Given the description of an element on the screen output the (x, y) to click on. 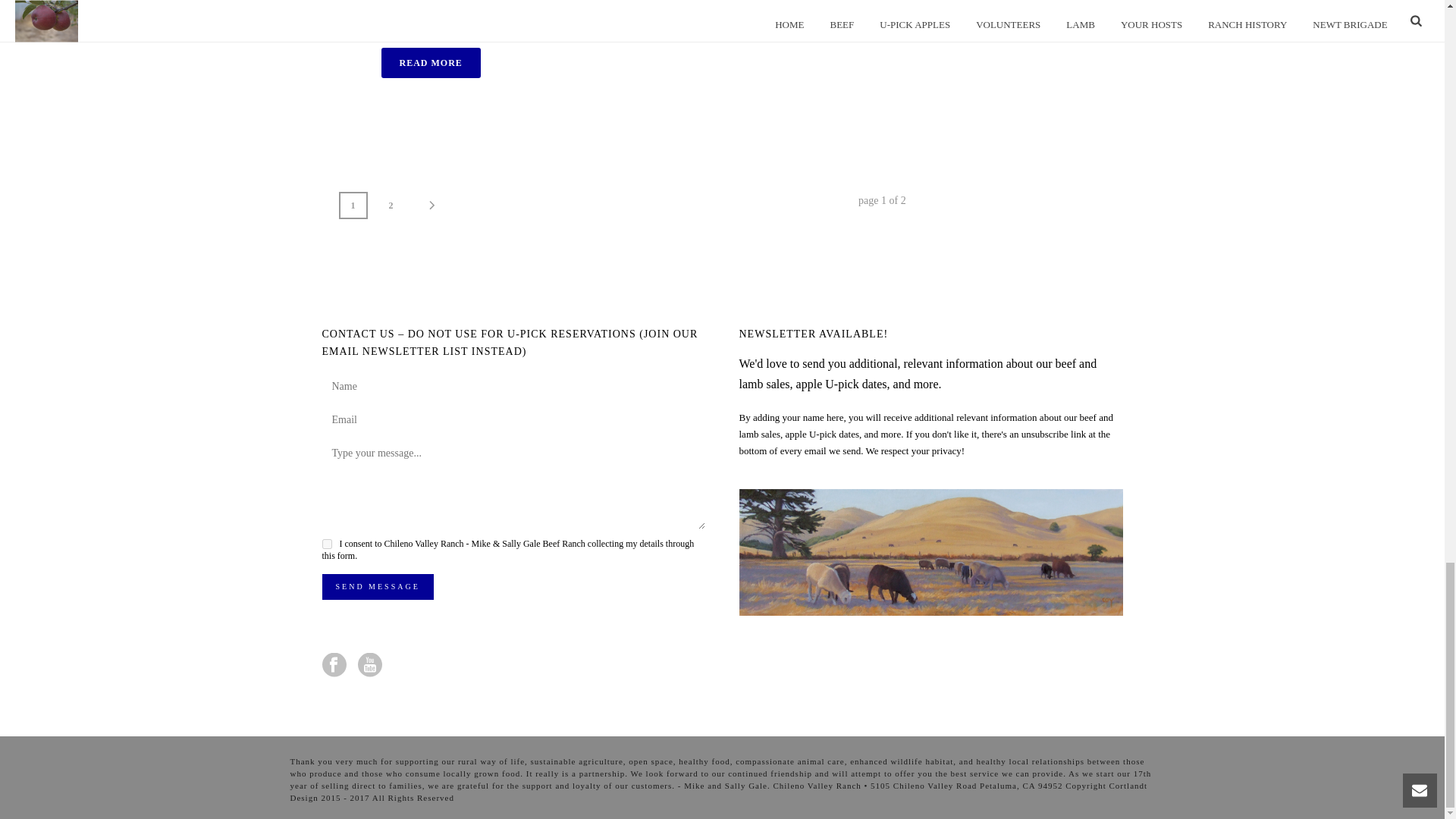
 facebook (333, 665)
 youtube (369, 665)
READ MORE (430, 62)
